Given the description of an element on the screen output the (x, y) to click on. 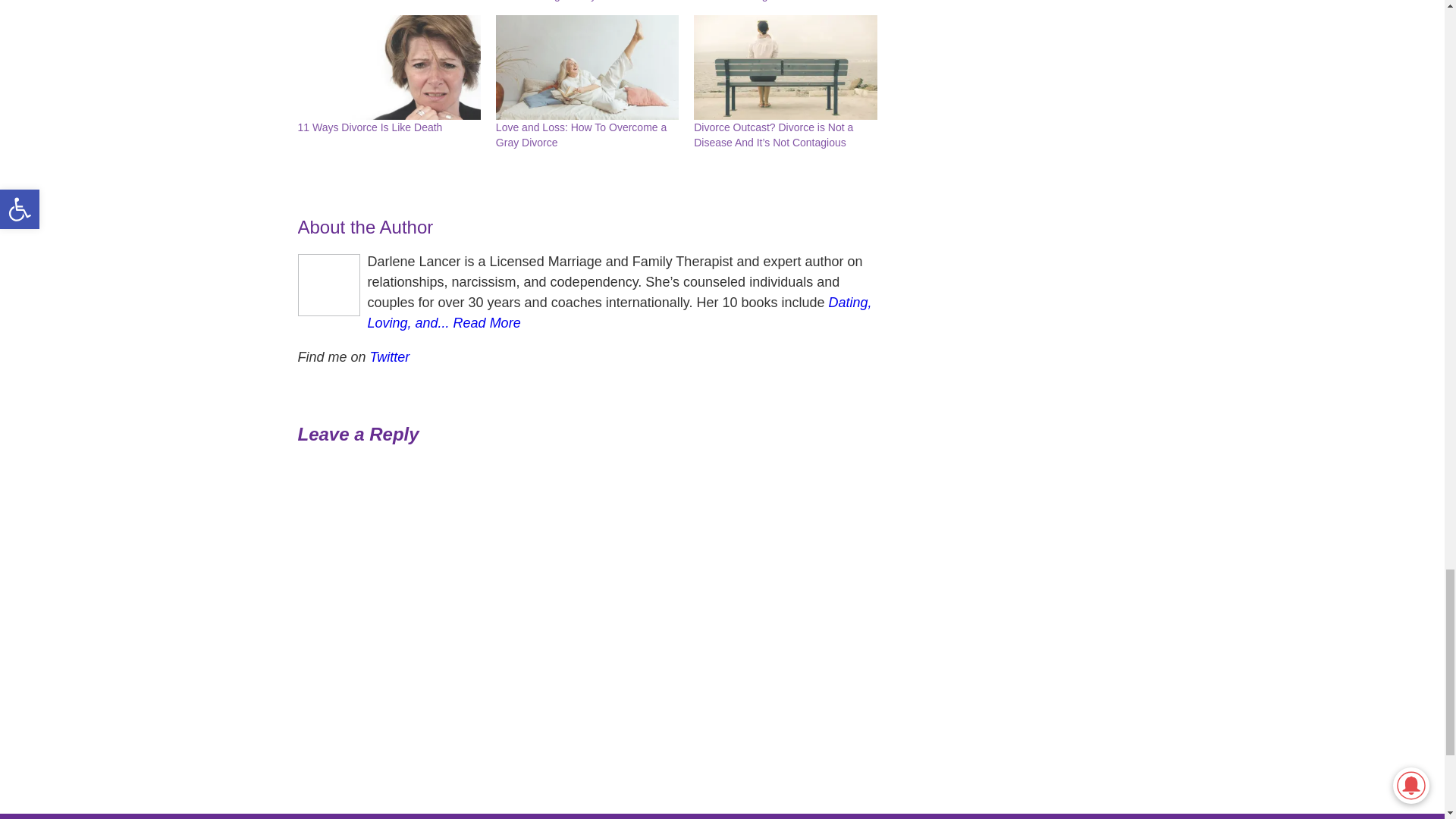
Love and Loss: How To Overcome a Gray Divorce (587, 67)
11 Ways Divorce Is Like Death (388, 67)
Love and Loss: How To Overcome a Gray Divorce (581, 134)
11 Ways Divorce Is Like Death (369, 127)
